Given the description of an element on the screen output the (x, y) to click on. 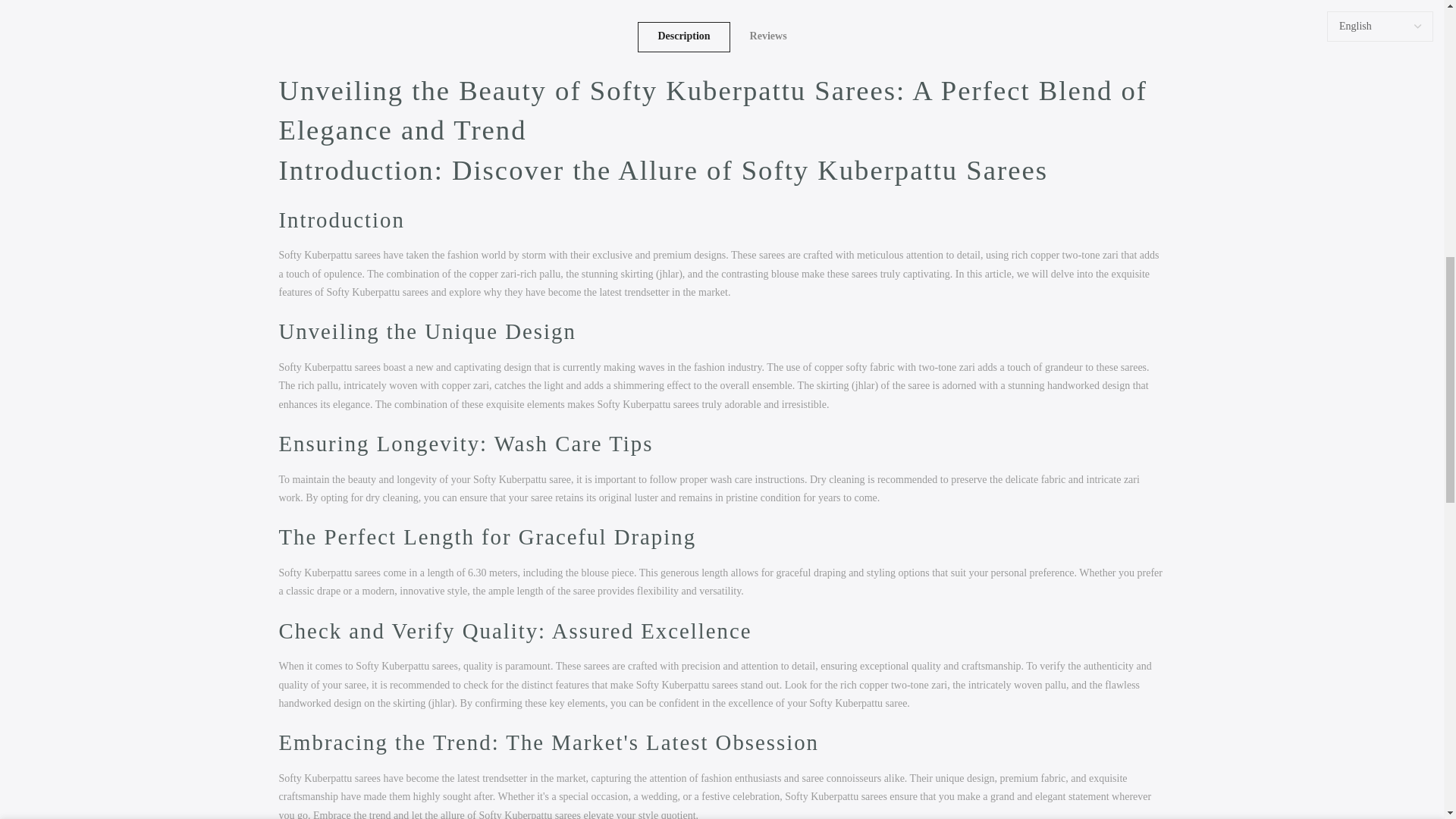
Reviews (768, 37)
1 (1001, 35)
Description (683, 37)
